Given the description of an element on the screen output the (x, y) to click on. 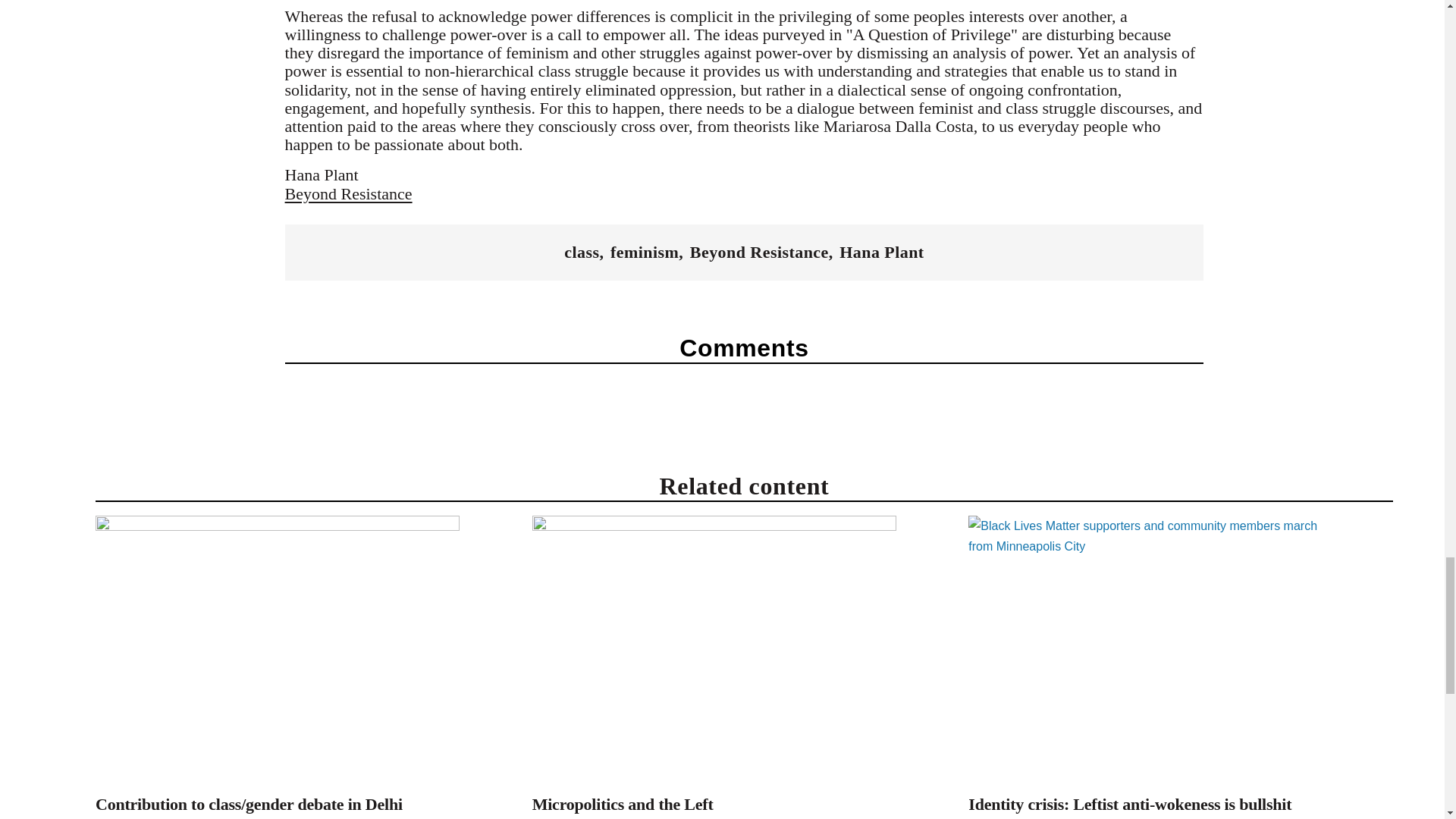
Beyond Resistance (759, 252)
feminism (644, 252)
class (581, 252)
Hana Plant (881, 252)
Beyond Resistance (348, 193)
